Given the description of an element on the screen output the (x, y) to click on. 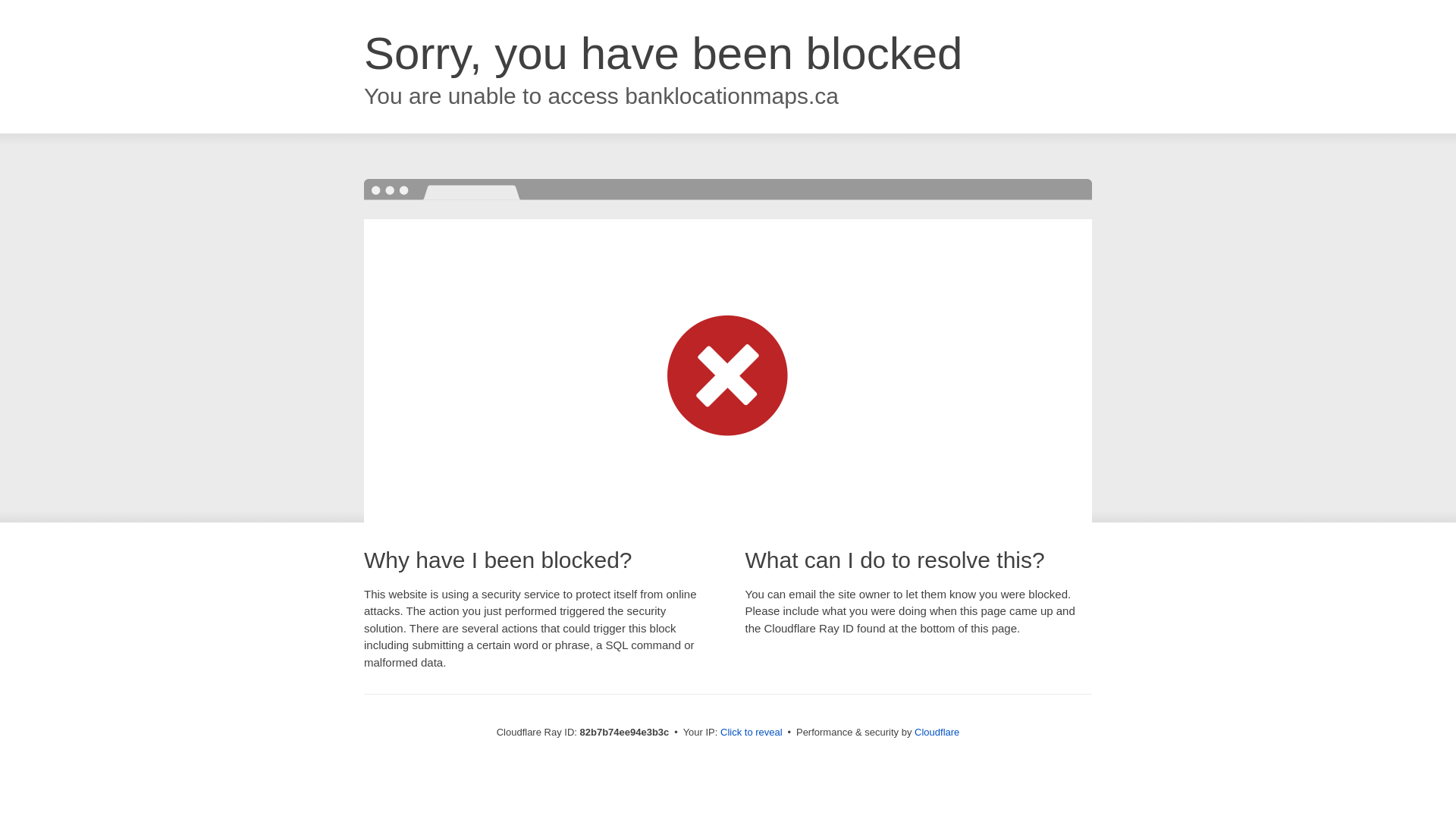
Click to reveal Element type: text (751, 732)
Cloudflare Element type: text (936, 731)
